Given the description of an element on the screen output the (x, y) to click on. 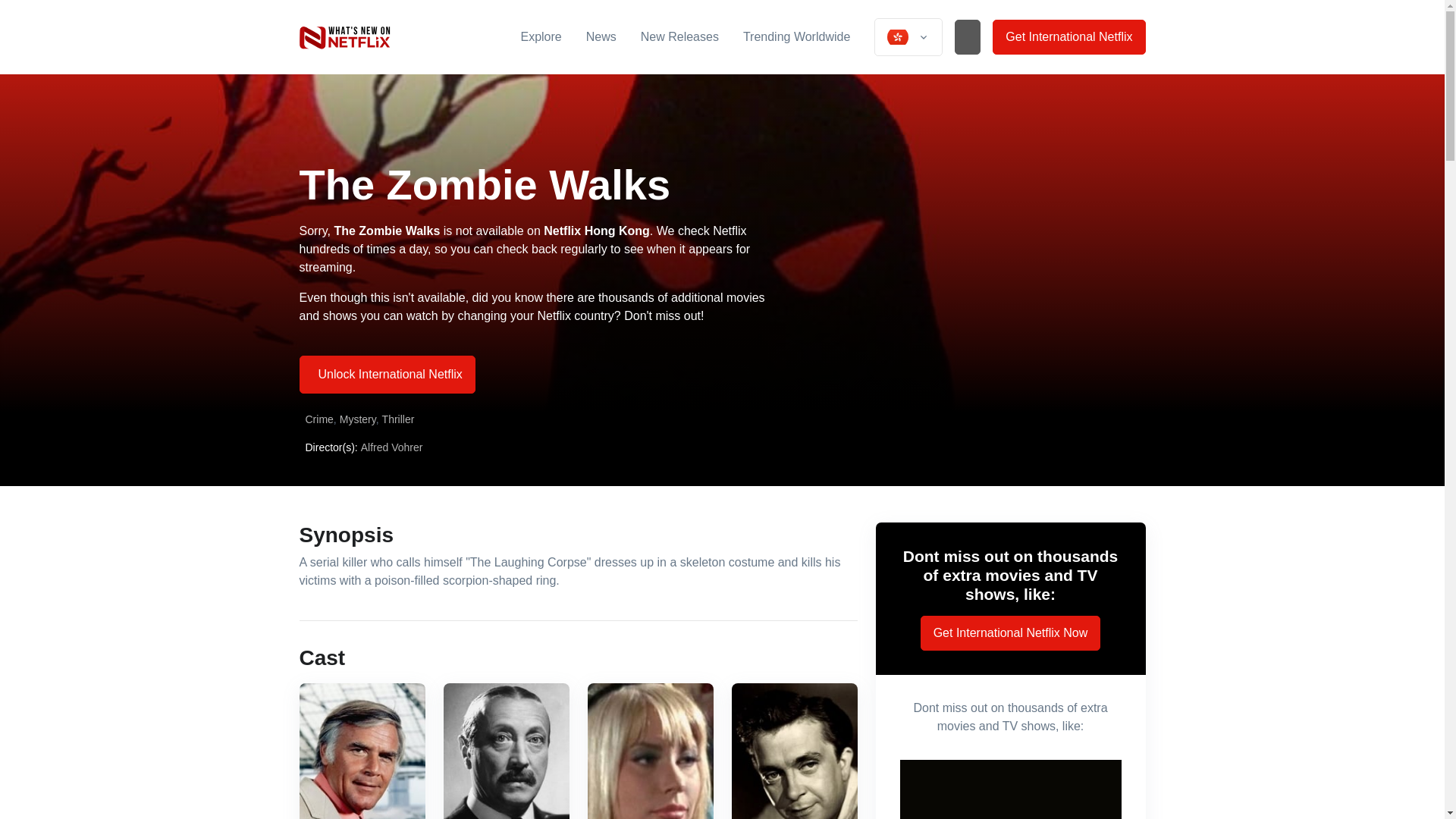
Explore (540, 36)
New Releases (679, 36)
Trending Worldwide (796, 36)
News (601, 36)
